Given the description of an element on the screen output the (x, y) to click on. 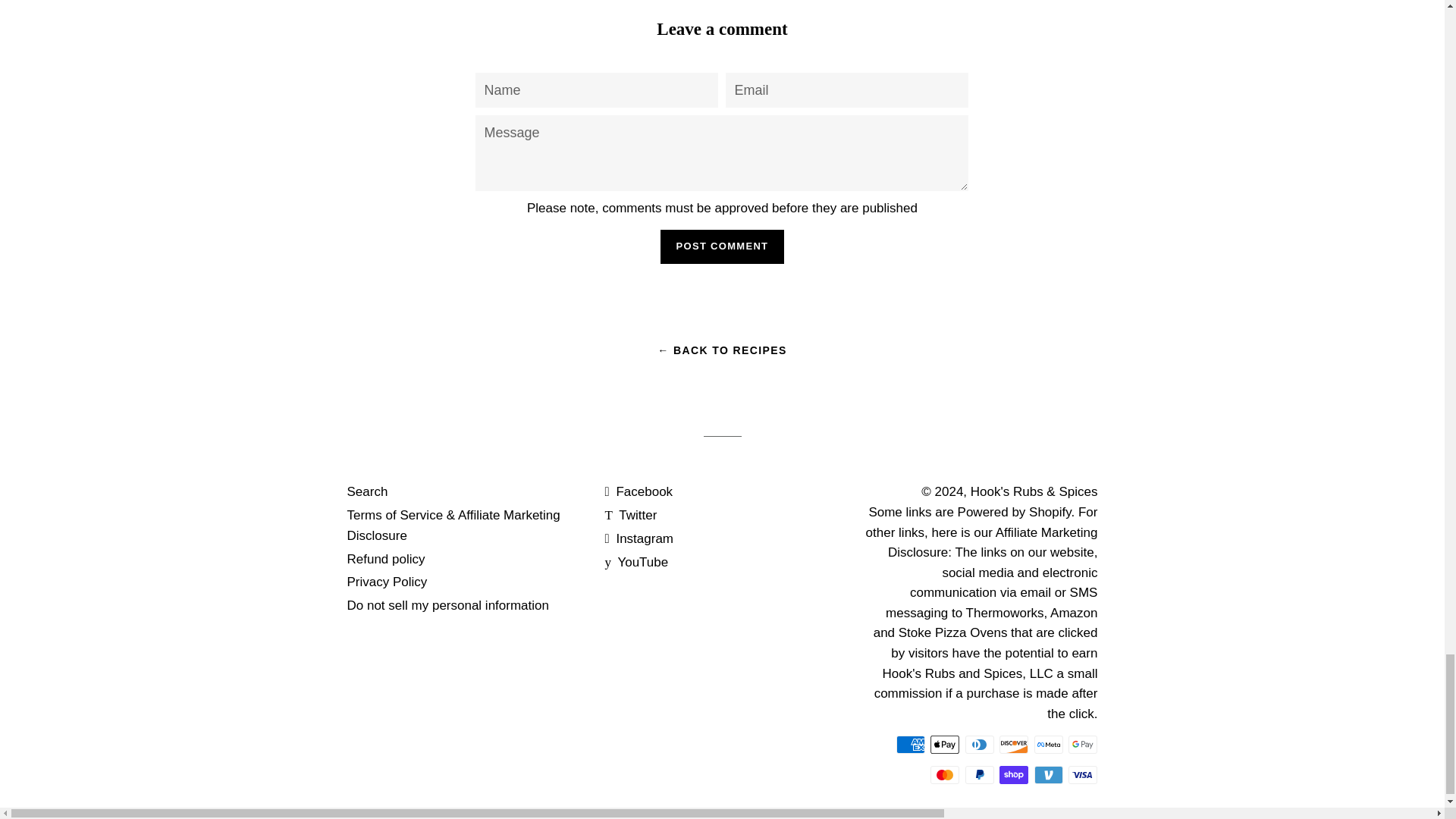
Meta Pay (1047, 744)
Post comment (722, 246)
Shop Pay (1012, 774)
Diners Club (979, 744)
Visa (1082, 774)
Venmo (1047, 774)
Google Pay (1082, 744)
Discover (1012, 744)
PayPal (979, 774)
Apple Pay (944, 744)
